Given the description of an element on the screen output the (x, y) to click on. 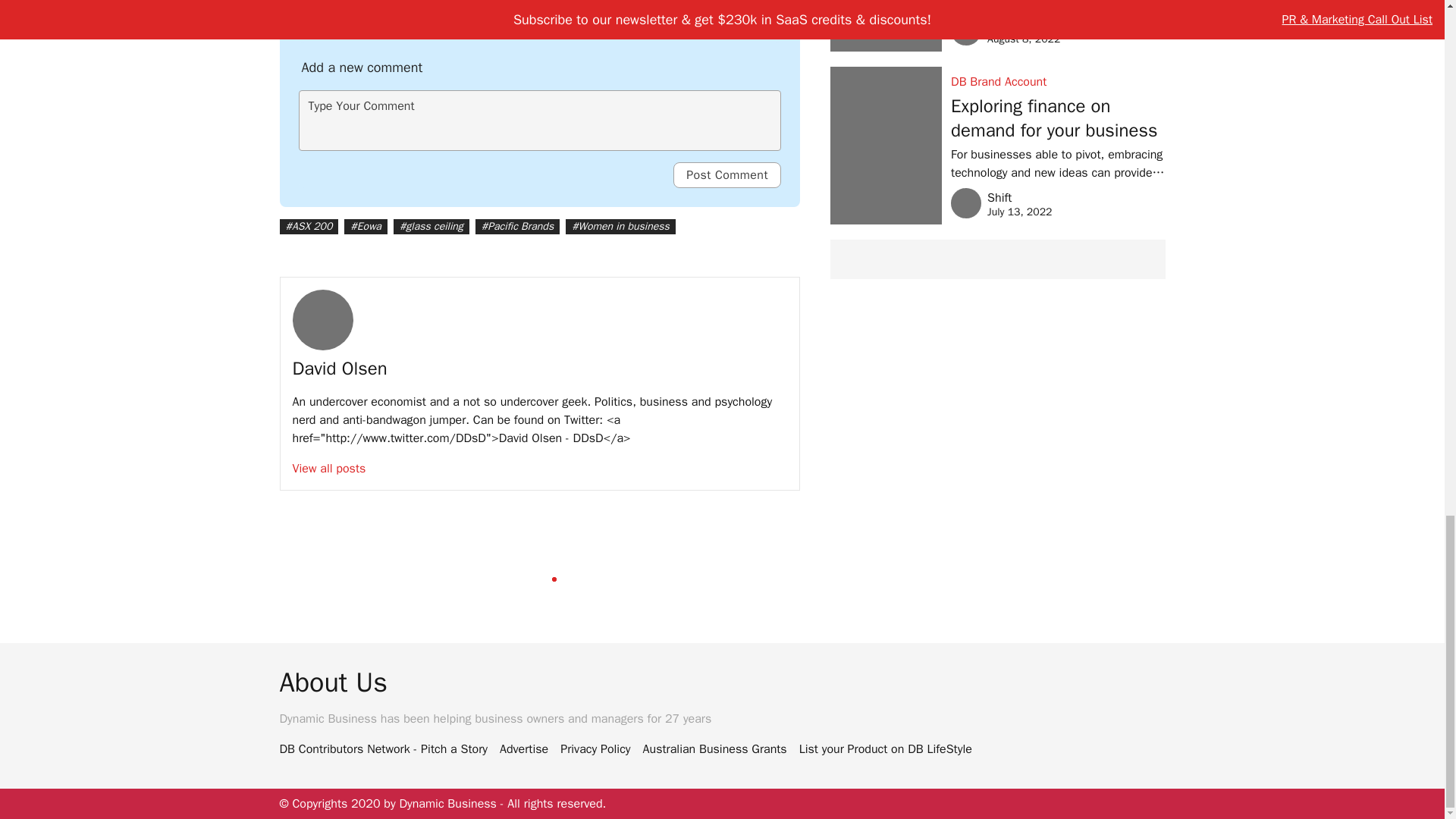
Post Comment (726, 175)
